Given the description of an element on the screen output the (x, y) to click on. 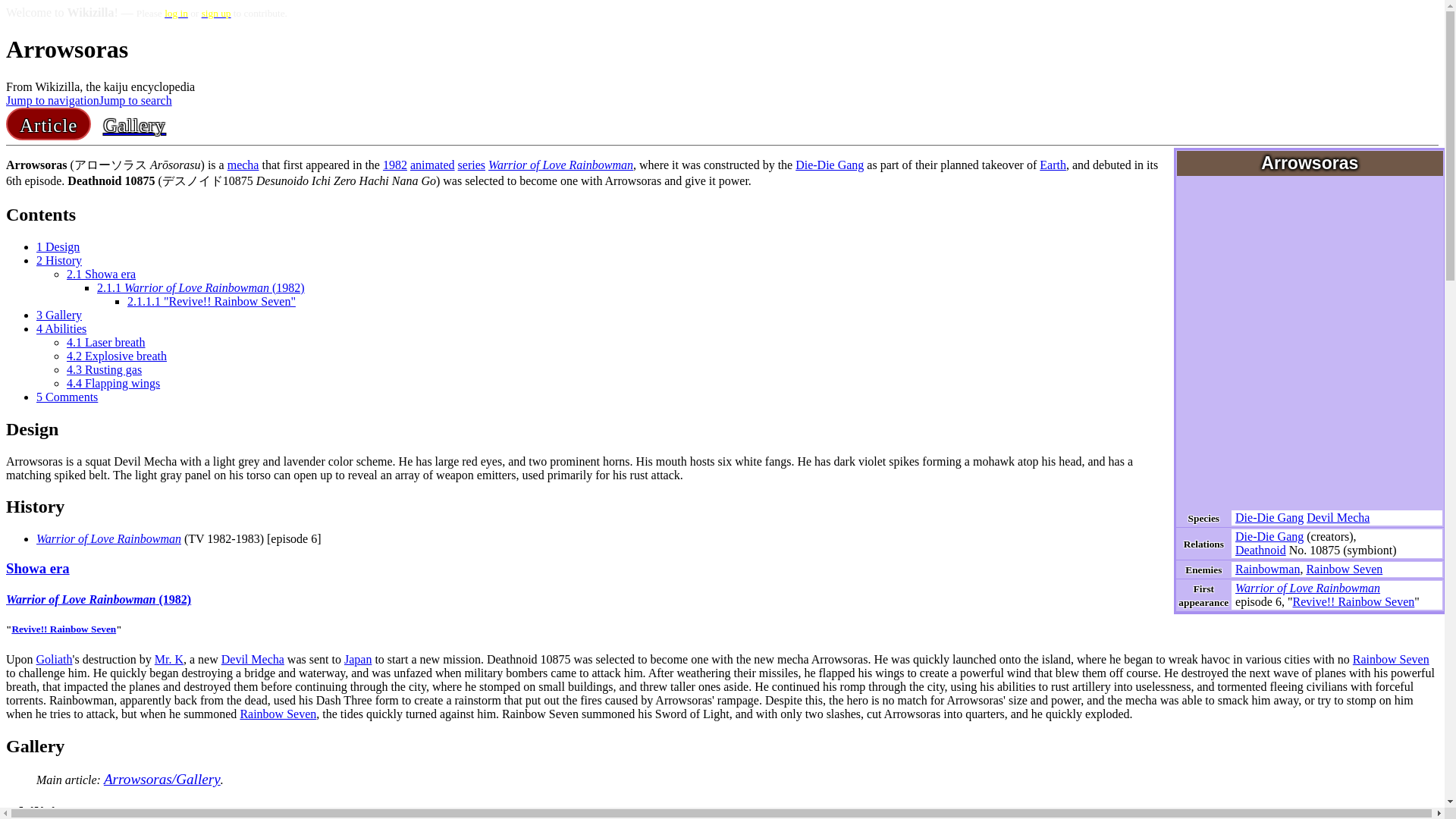
2 History (58, 259)
Devil Mecha (1338, 517)
4.1 Laser breath (105, 341)
Earth (1052, 164)
Showa era (37, 568)
Die-Die Gang (1268, 535)
1982 (394, 164)
series (471, 164)
1982 (394, 164)
Die-Die Gang (828, 164)
Rainbowman (1267, 568)
1 Design (58, 246)
Rainbowman (1267, 568)
4 Abilities (60, 328)
2.1.1.1 "Revive!! Rainbow Seven" (211, 300)
